Given the description of an element on the screen output the (x, y) to click on. 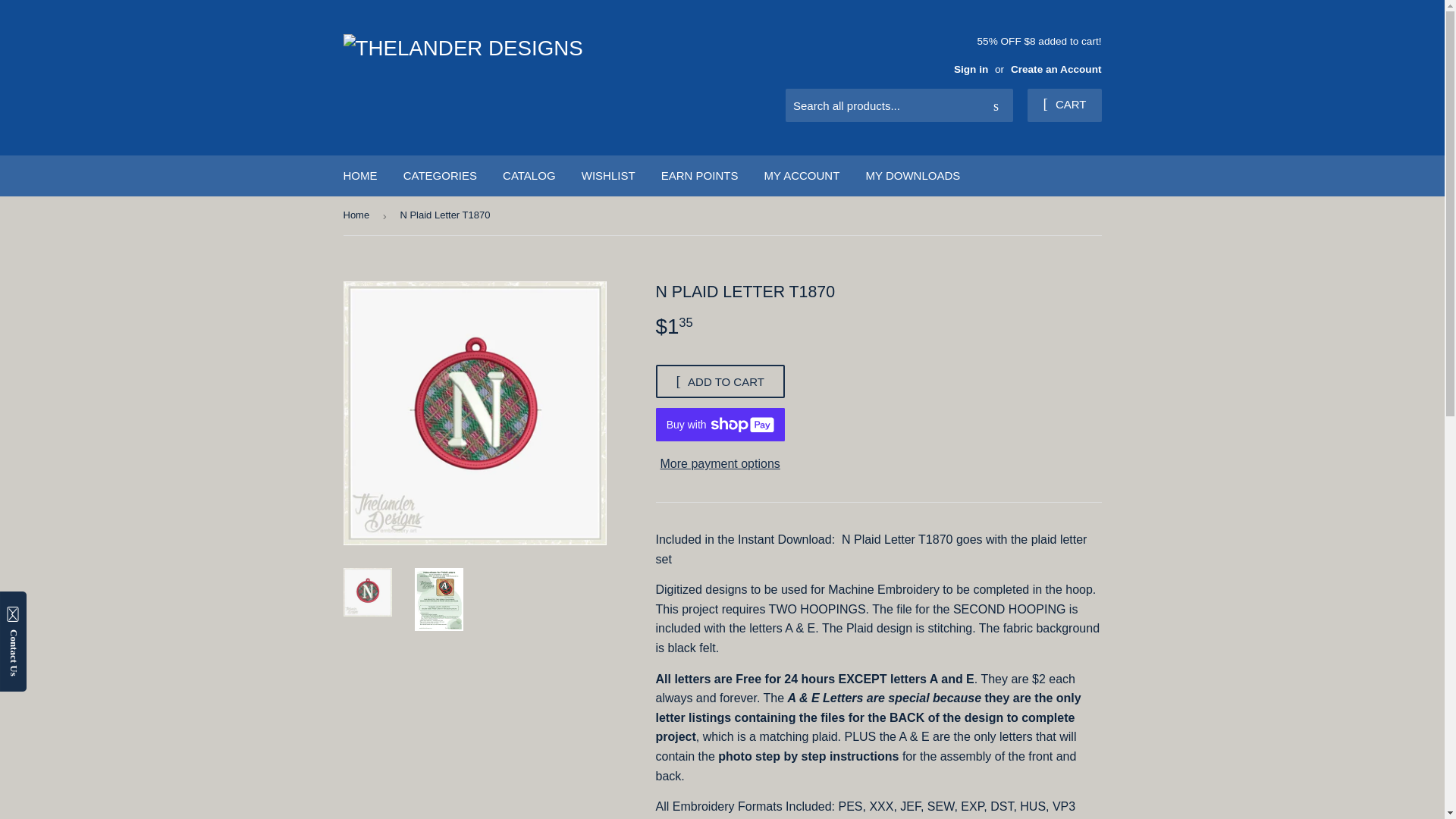
MY ACCOUNT (801, 175)
Create an Account (1056, 69)
CART (1063, 105)
HOME (359, 175)
WISHLIST (608, 175)
CATALOG (529, 175)
CATEGORIES (439, 175)
Search (995, 106)
More payment options (719, 464)
Sign in (970, 69)
ADD TO CART (719, 381)
MY DOWNLOADS (913, 175)
EARN POINTS (699, 175)
